Given the description of an element on the screen output the (x, y) to click on. 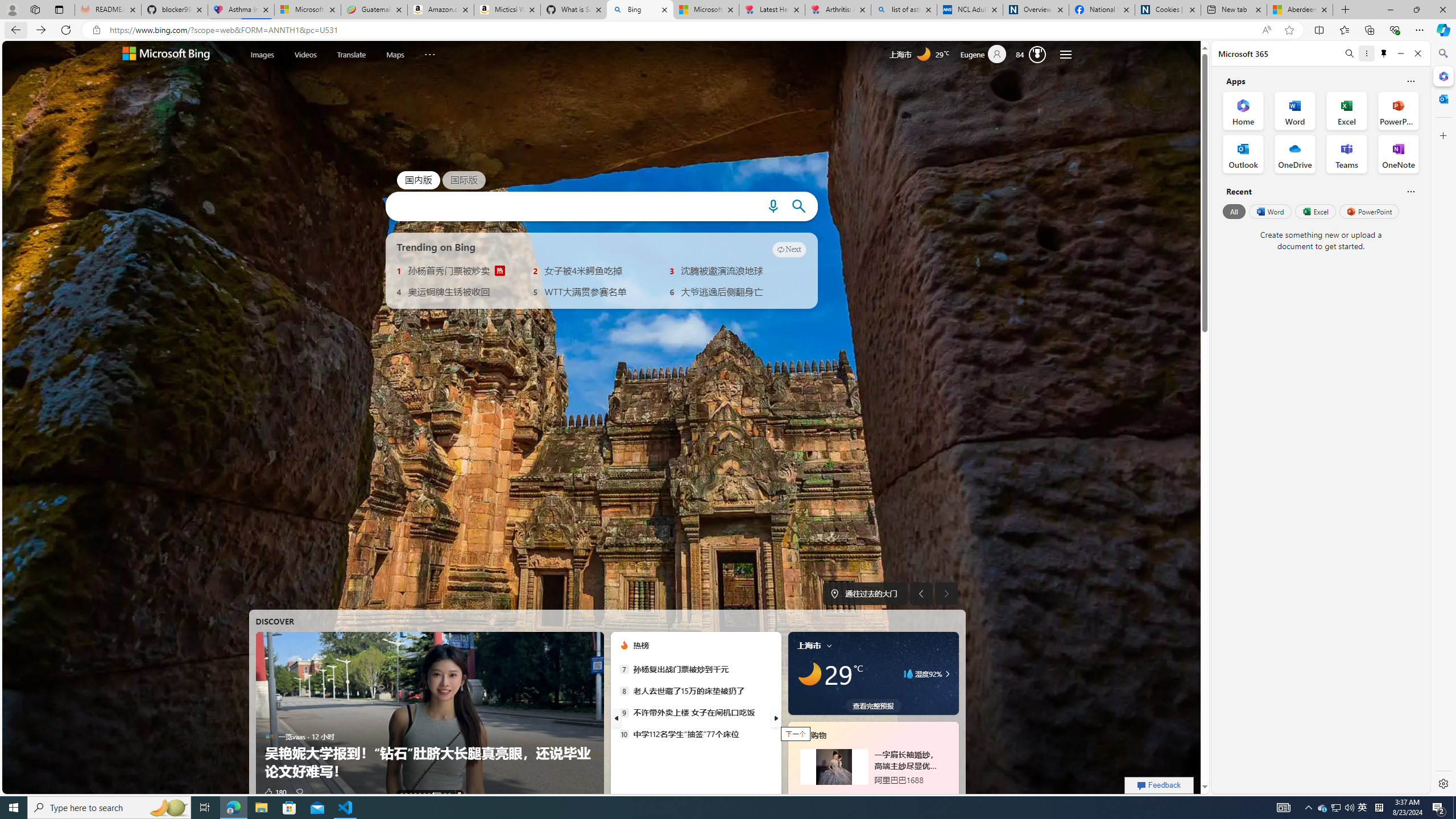
Images (261, 53)
Maps (394, 53)
tab-9 (887, 795)
Trending on Bing (436, 246)
AutomationID: tab-4 (419, 793)
